Given the description of an element on the screen output the (x, y) to click on. 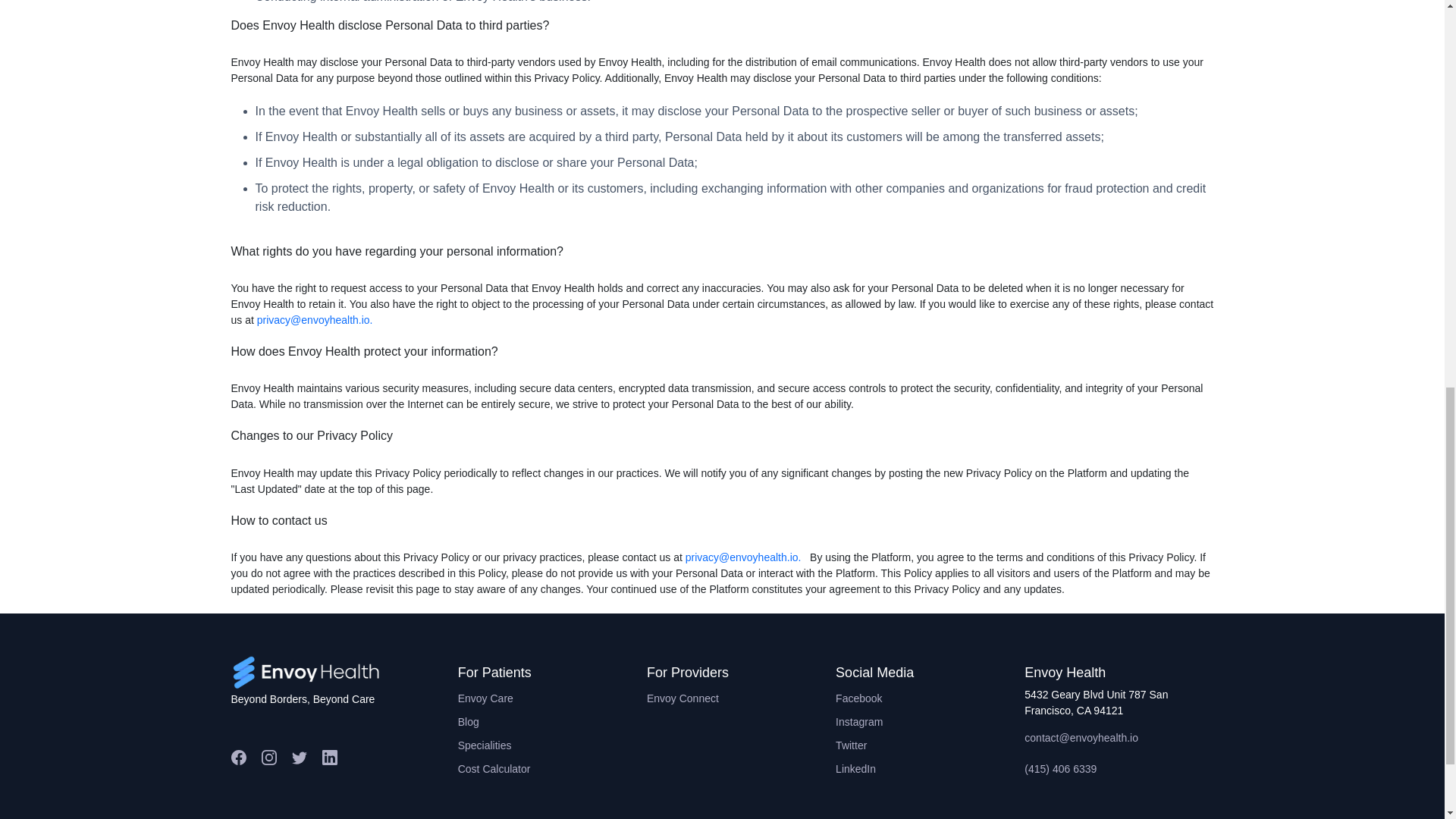
Envoy Care (552, 698)
Blog (552, 721)
LinkedIn (930, 769)
Instagram (930, 721)
Cost Calculator (552, 769)
Envoy Connect (740, 698)
Facebook (930, 698)
Specialities (552, 745)
Twitter (930, 745)
